Given the description of an element on the screen output the (x, y) to click on. 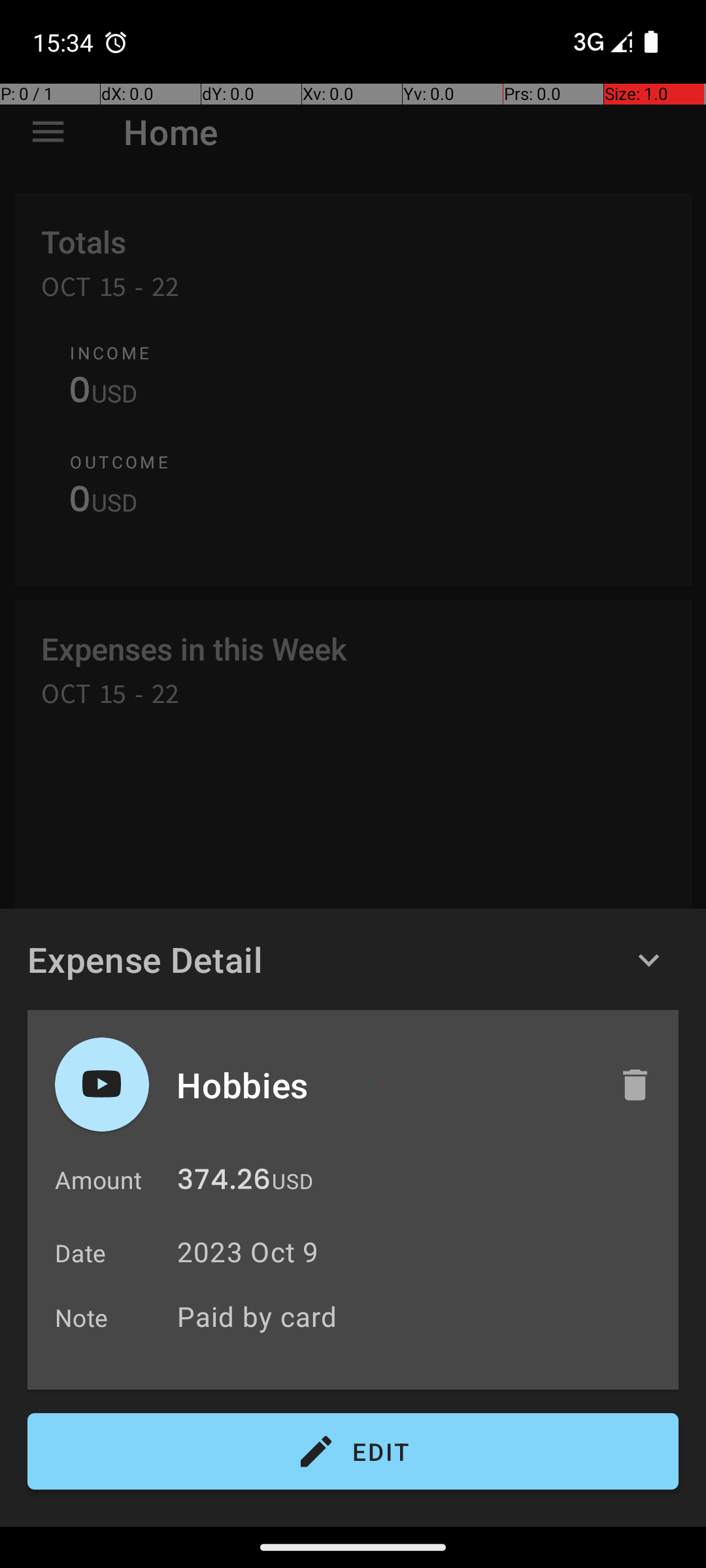
Hobbies Element type: android.widget.TextView (383, 1084)
374.26 Element type: android.widget.TextView (223, 1182)
